Given the description of an element on the screen output the (x, y) to click on. 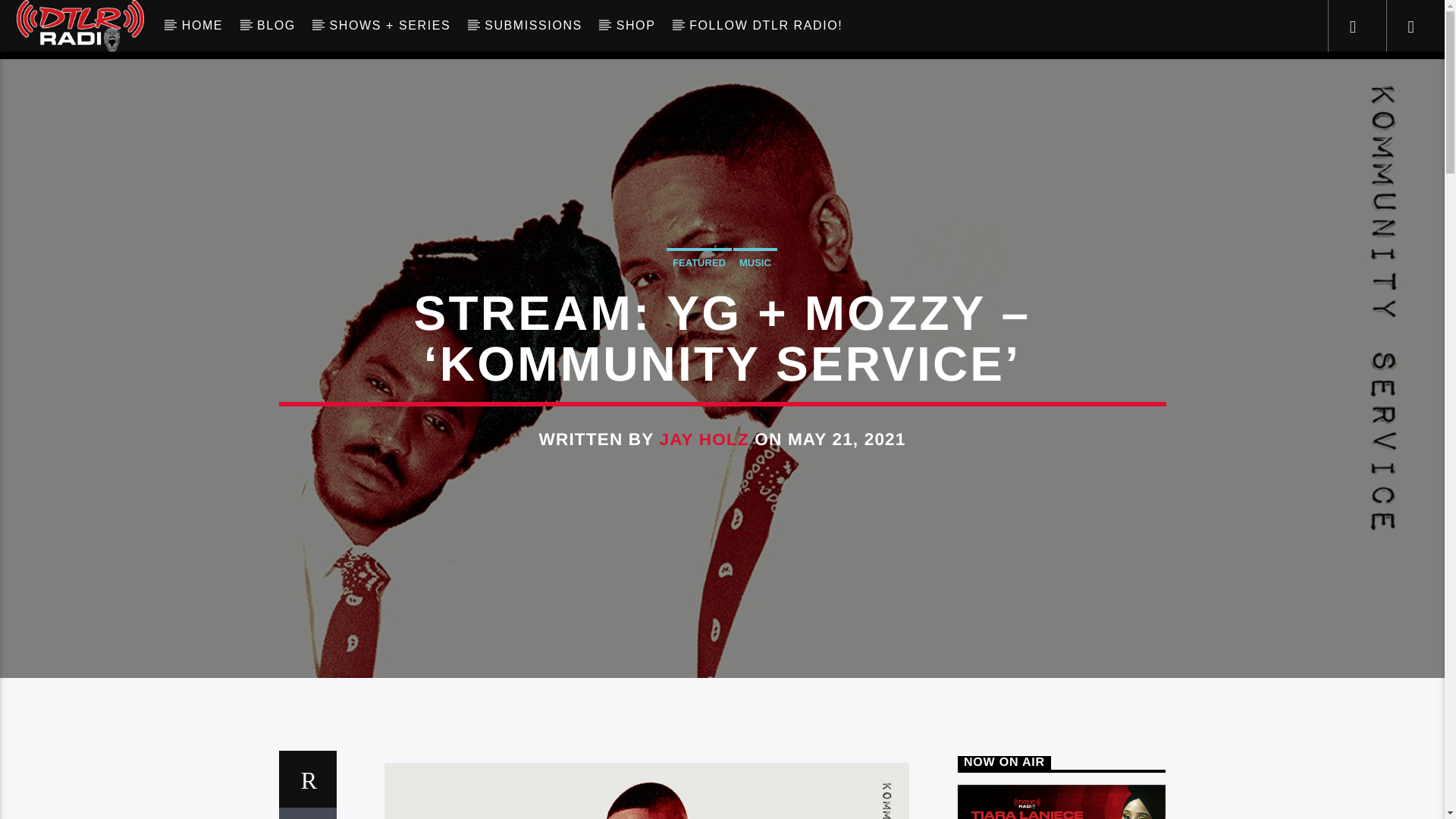
Posts by Jay Holz (704, 438)
HOME (202, 25)
BLOG (276, 25)
SHOP (635, 25)
SUBMISSIONS (533, 25)
FOLLOW DTLR RADIO! (766, 25)
